Given the description of an element on the screen output the (x, y) to click on. 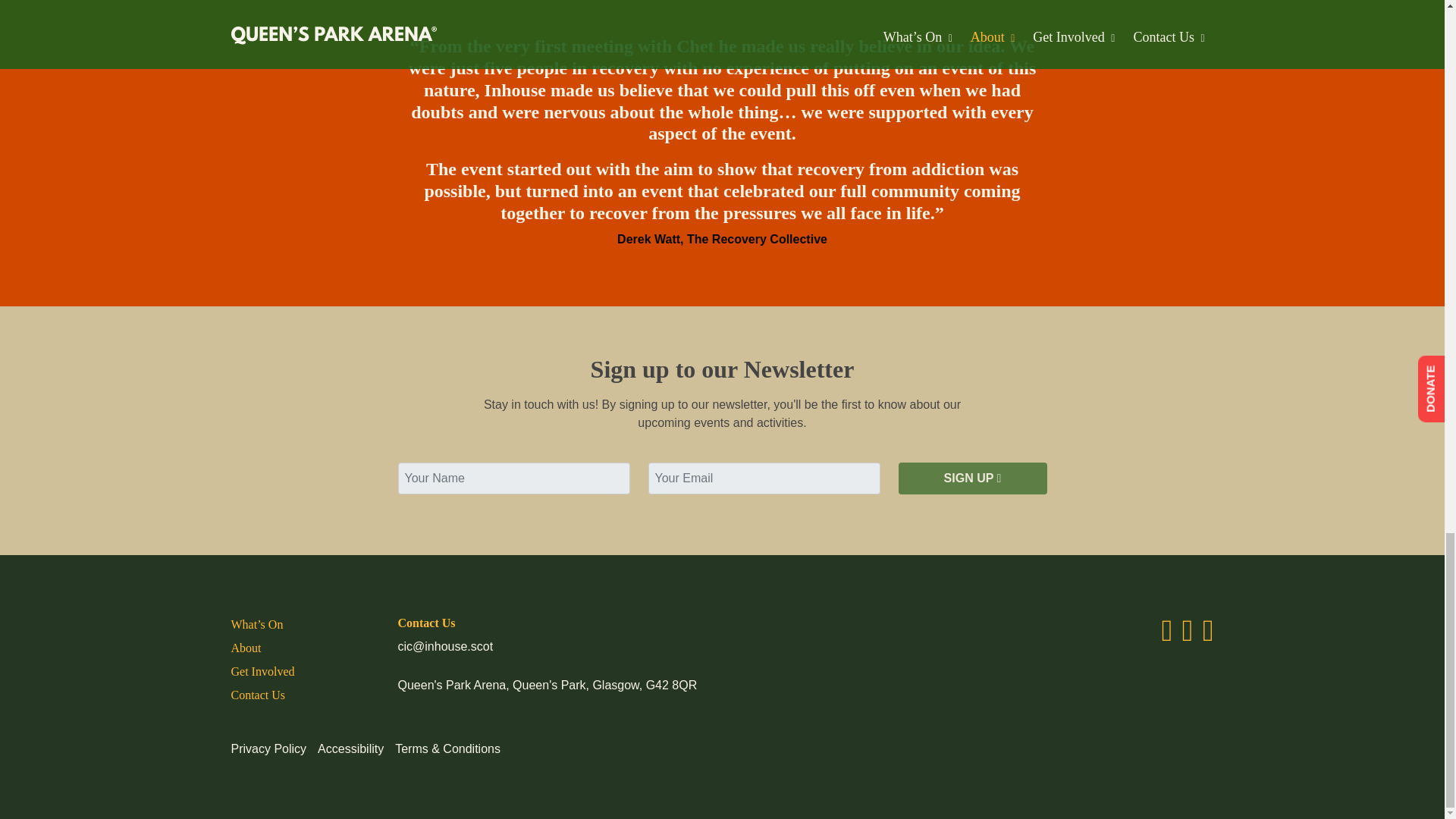
About (245, 647)
Contact Us (257, 694)
Get Involved (262, 671)
Accessibility (350, 748)
Privacy Policy (267, 748)
SIGN UP (972, 478)
